Given the description of an element on the screen output the (x, y) to click on. 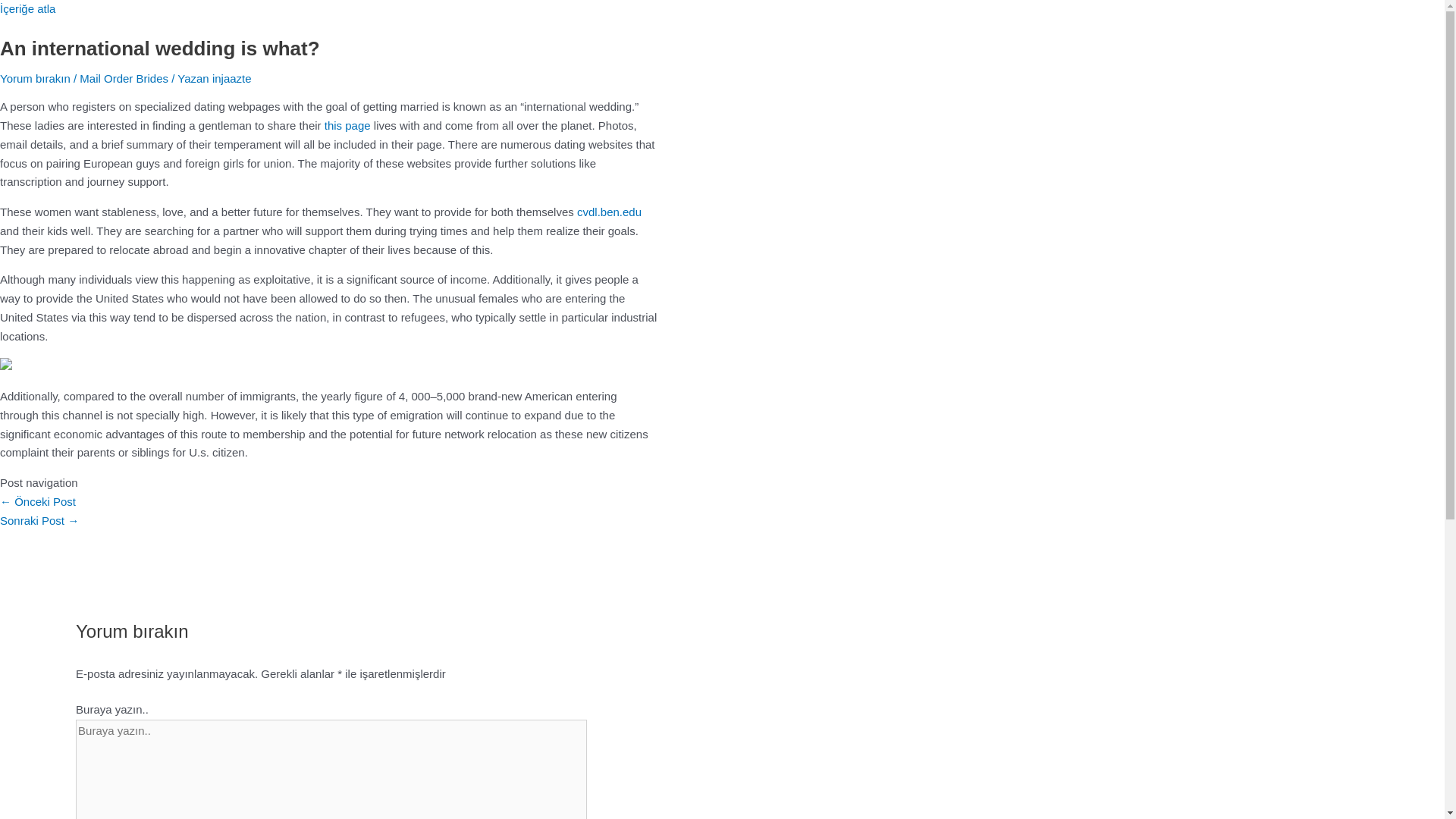
Oriental Relationship Stereotypes (37, 501)
this page (347, 124)
cvdl.ben.edu (609, 211)
injaazte (231, 78)
Do Mail Order Brides ActuallyExist? (39, 520)
Mail Order Brides (124, 78)
